Given the description of an element on the screen output the (x, y) to click on. 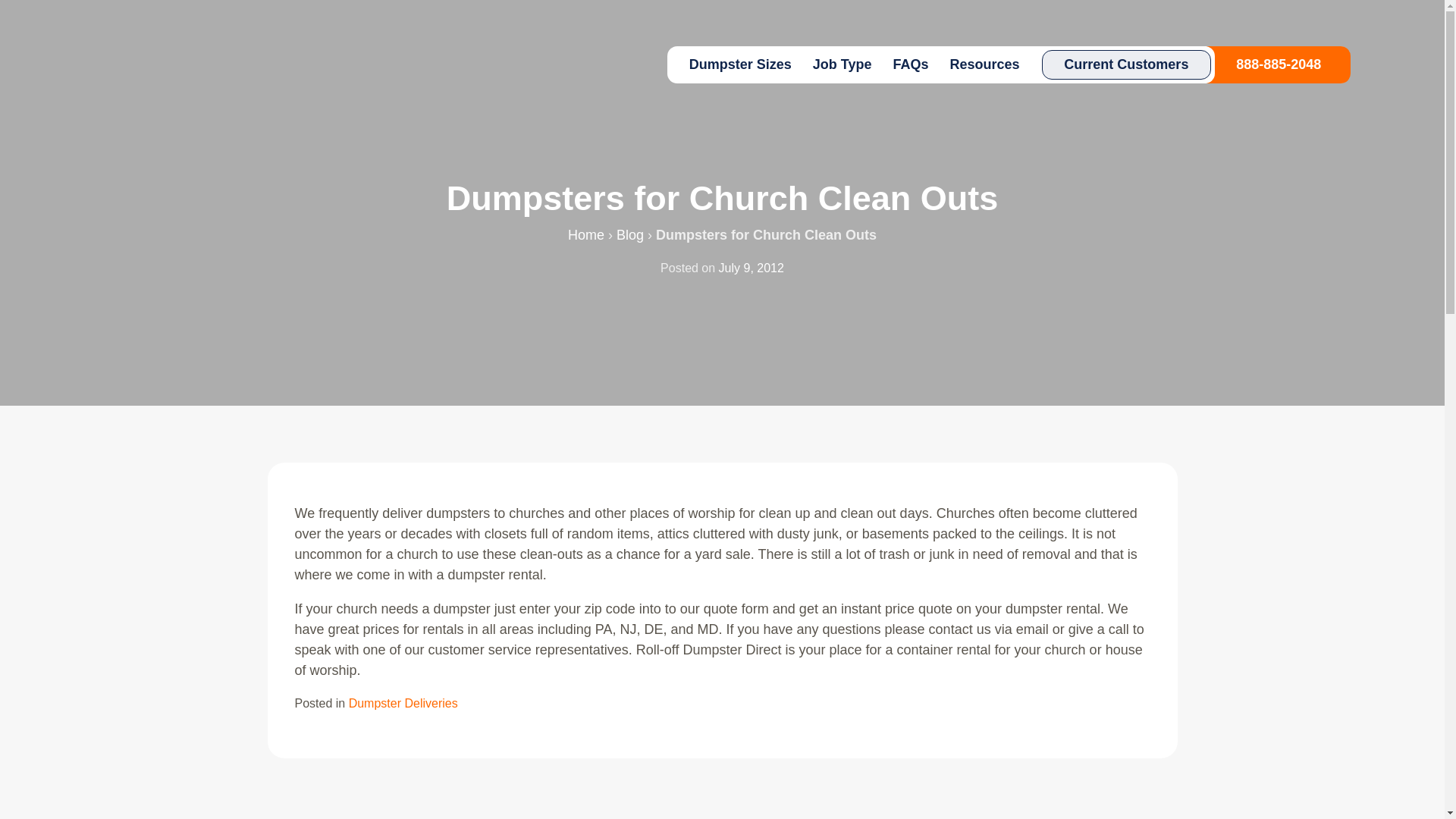
Current Customers (1126, 64)
Dumpster Sizes (740, 63)
Dumpster Deliveries (403, 703)
888-885-2048 (1279, 63)
July 9, 2012 (751, 267)
Job Type (842, 63)
Home (585, 234)
FAQs (910, 63)
Blog (629, 234)
Resources (984, 63)
